Given the description of an element on the screen output the (x, y) to click on. 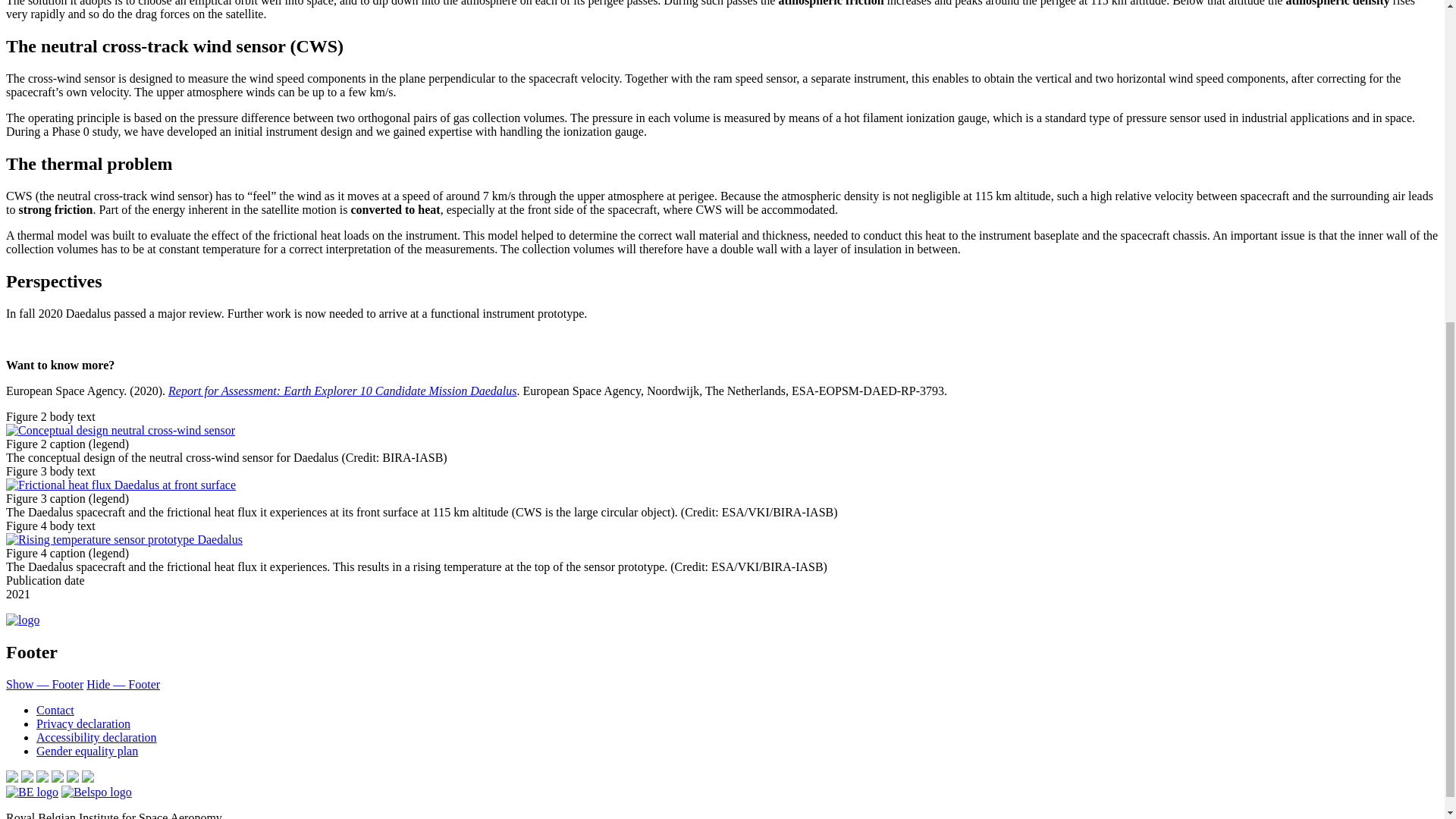
Privacy notice (83, 723)
Accessibility declaration (96, 737)
Contact (55, 709)
Gender equality plan (87, 750)
Usability of our website (96, 737)
Privacy declaration (83, 723)
